Given the description of an element on the screen output the (x, y) to click on. 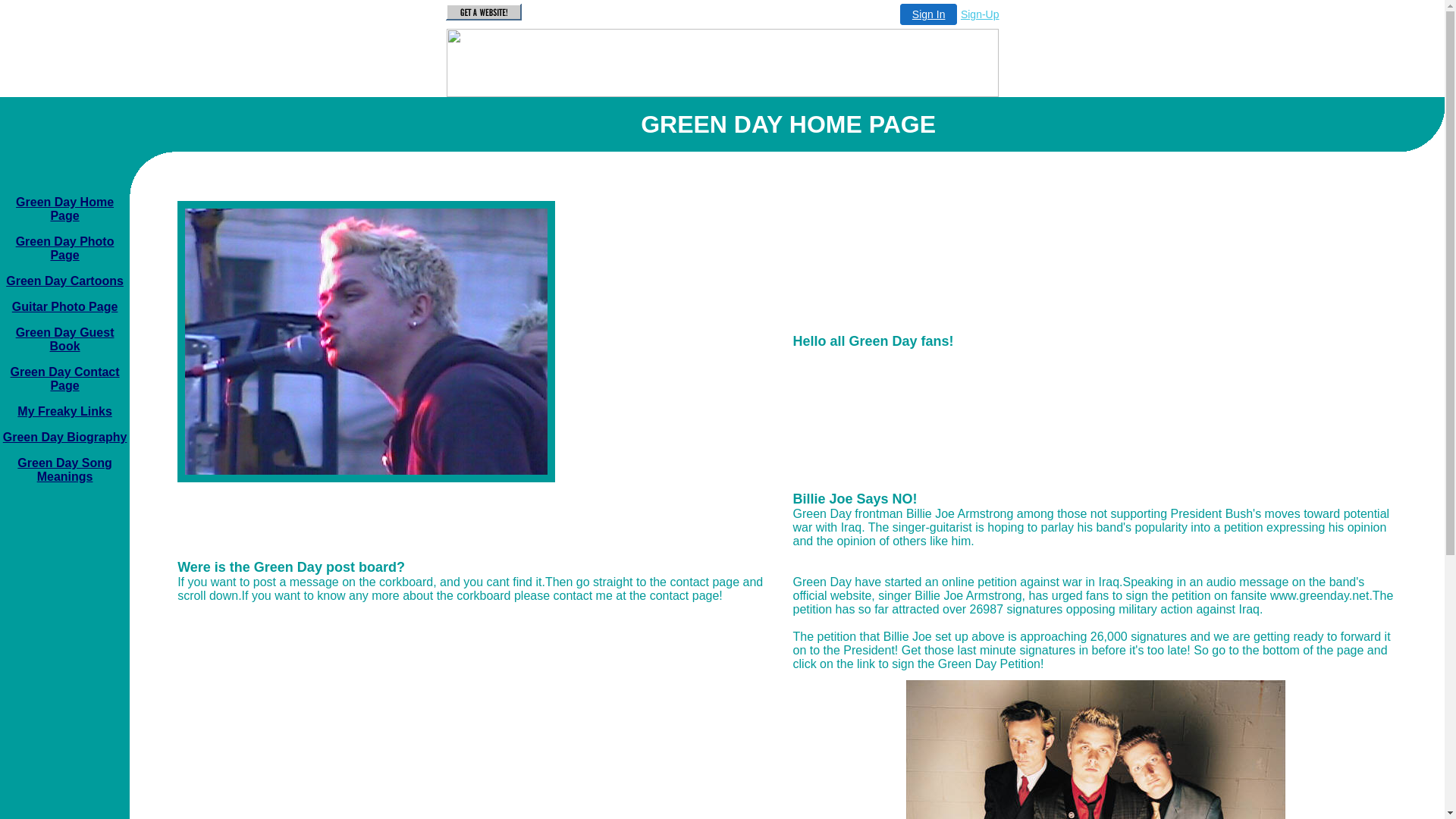
Green Day Cartoons Element type: text (64, 280)
My Freaky Links Element type: text (64, 410)
Green Day Photo Page Element type: text (64, 248)
Sign In Element type: text (928, 14)
Green Day Guest Book Element type: text (64, 339)
Green Day Contact Page Element type: text (64, 378)
Green Day Song Meanings Element type: text (64, 469)
Green Day Home Page Element type: text (64, 208)
Green Day Biography Element type: text (65, 436)
Sign-Up Element type: text (979, 14)
Guitar Photo Page Element type: text (65, 306)
